Given the description of an element on the screen output the (x, y) to click on. 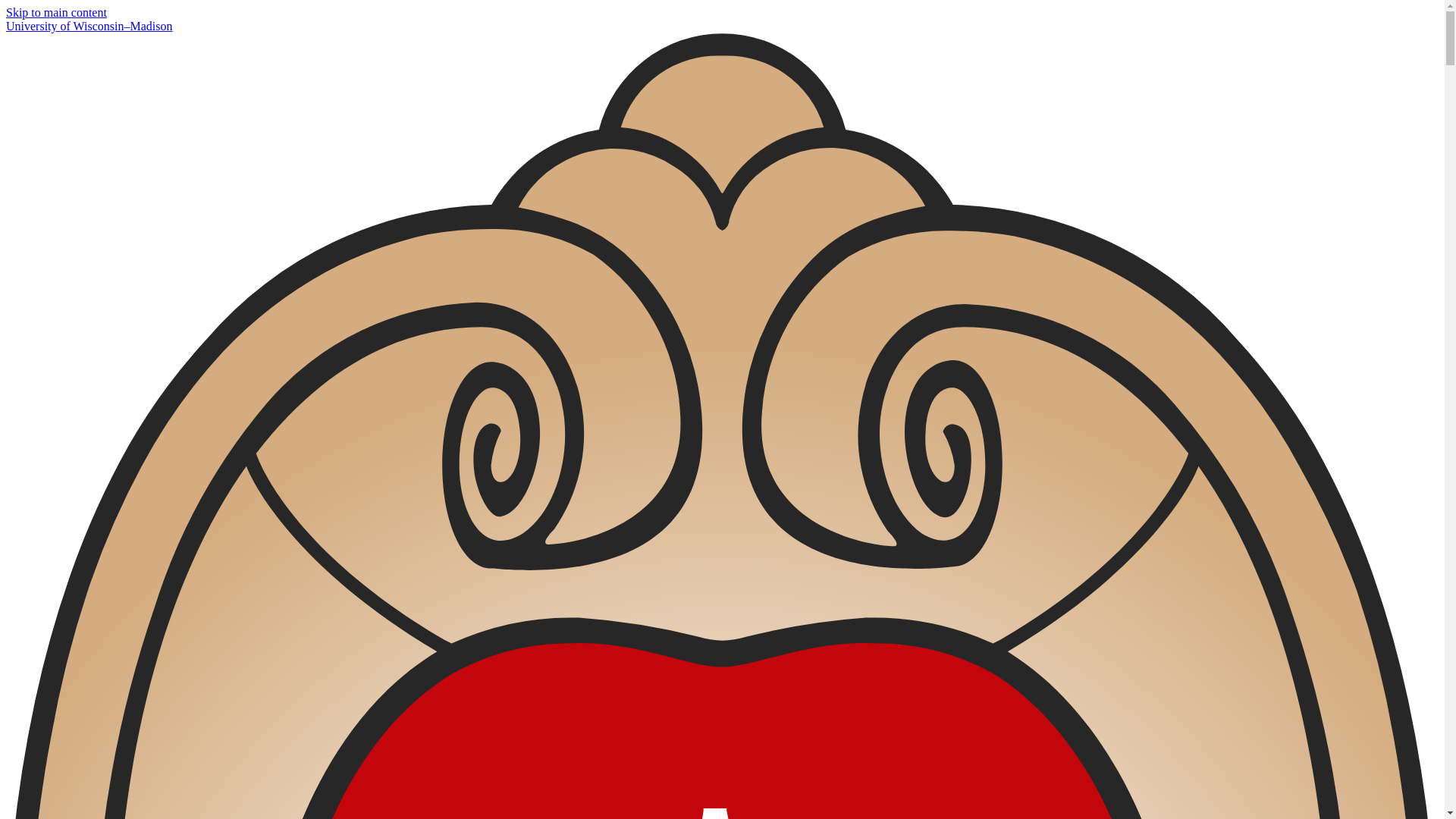
Skip to main content (55, 11)
